Given the description of an element on the screen output the (x, y) to click on. 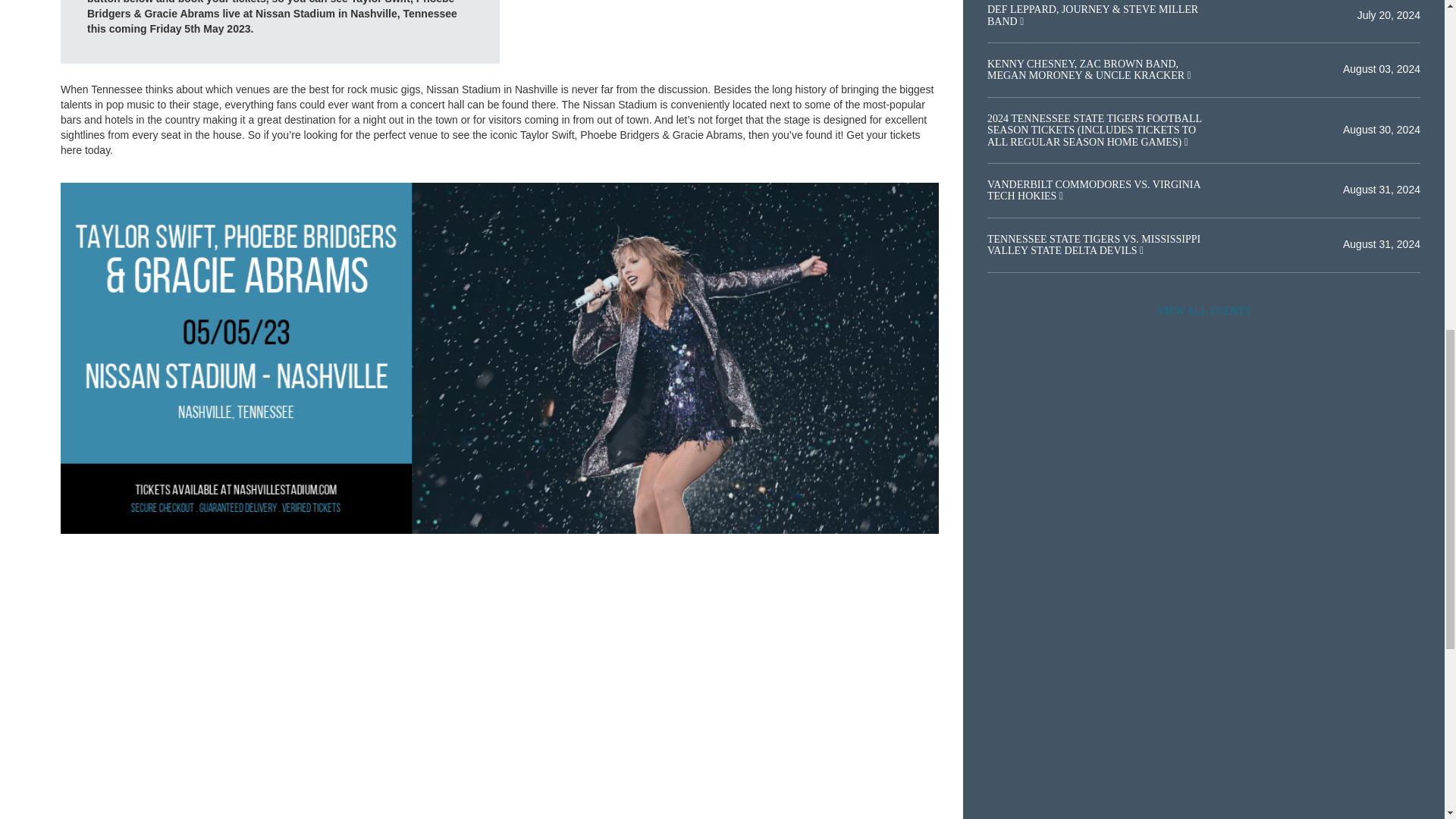
VIEW ALL EVENTS (1203, 311)
